Given the description of an element on the screen output the (x, y) to click on. 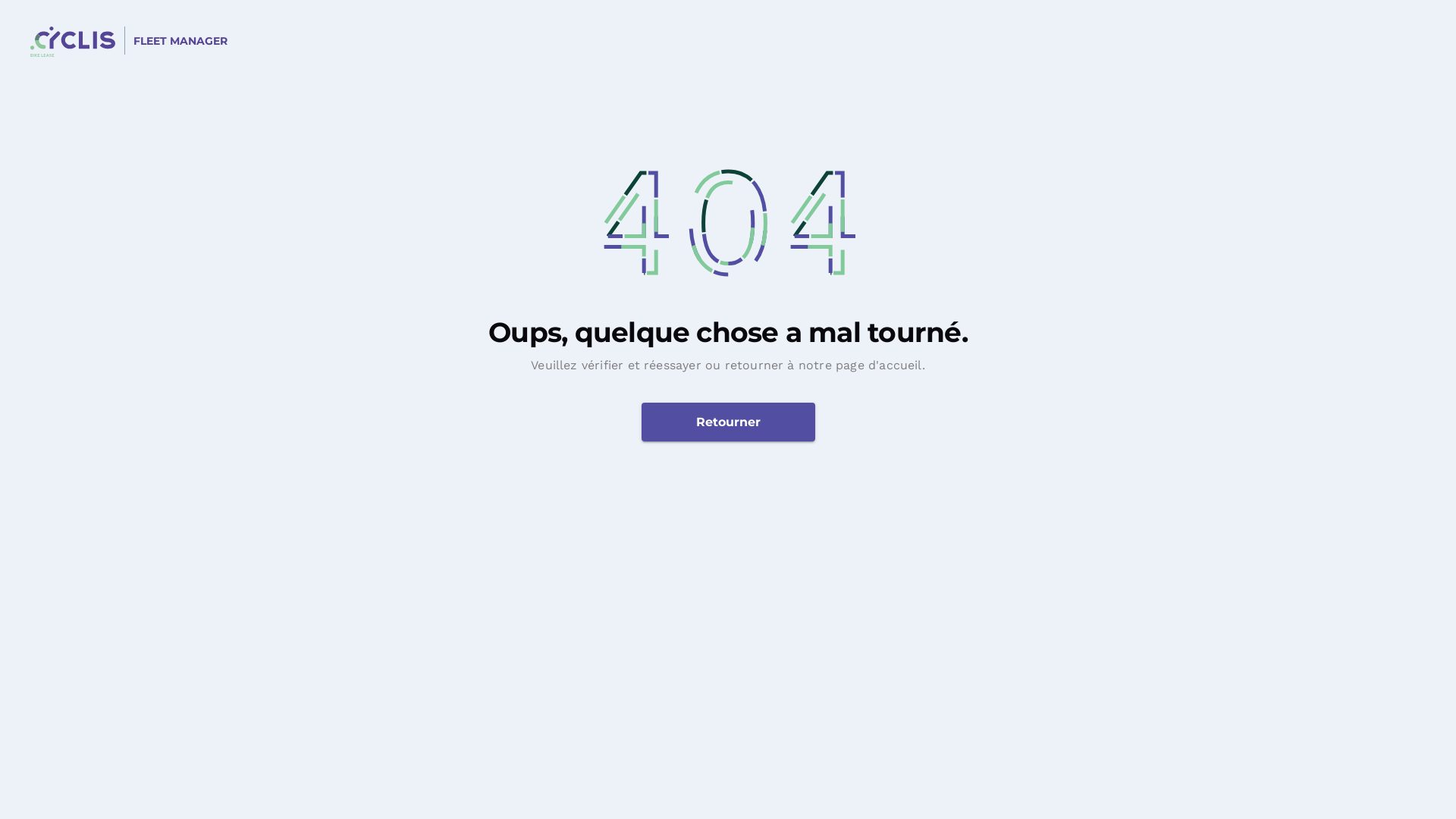
Retourner Element type: text (728, 421)
